Given the description of an element on the screen output the (x, y) to click on. 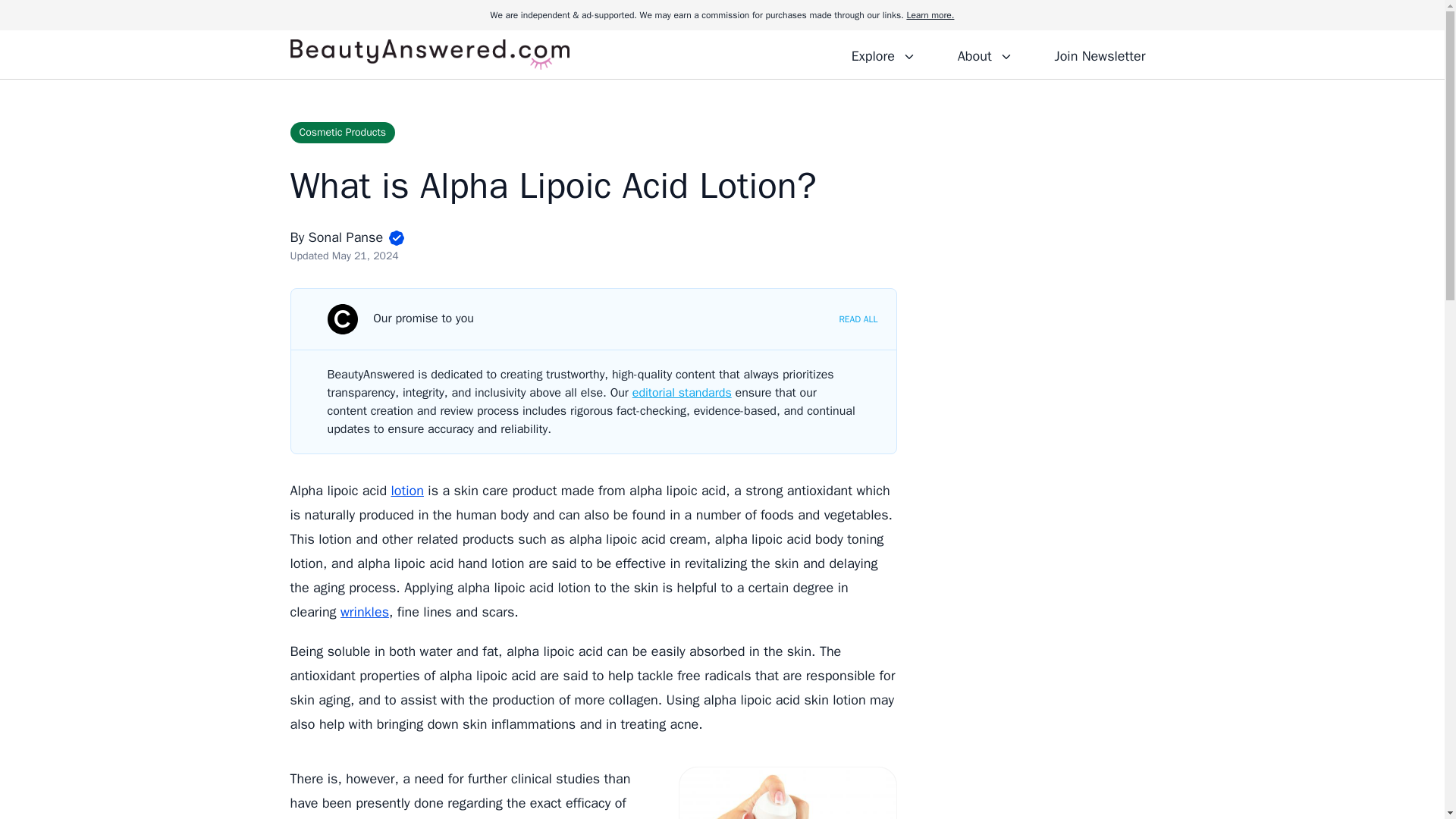
wrinkles (364, 611)
READ ALL (857, 318)
Explore (883, 54)
Learn more. (929, 15)
Join Newsletter (1099, 54)
Cosmetic Products (341, 132)
About (984, 54)
lotion (406, 490)
editorial standards (681, 393)
